Given the description of an element on the screen output the (x, y) to click on. 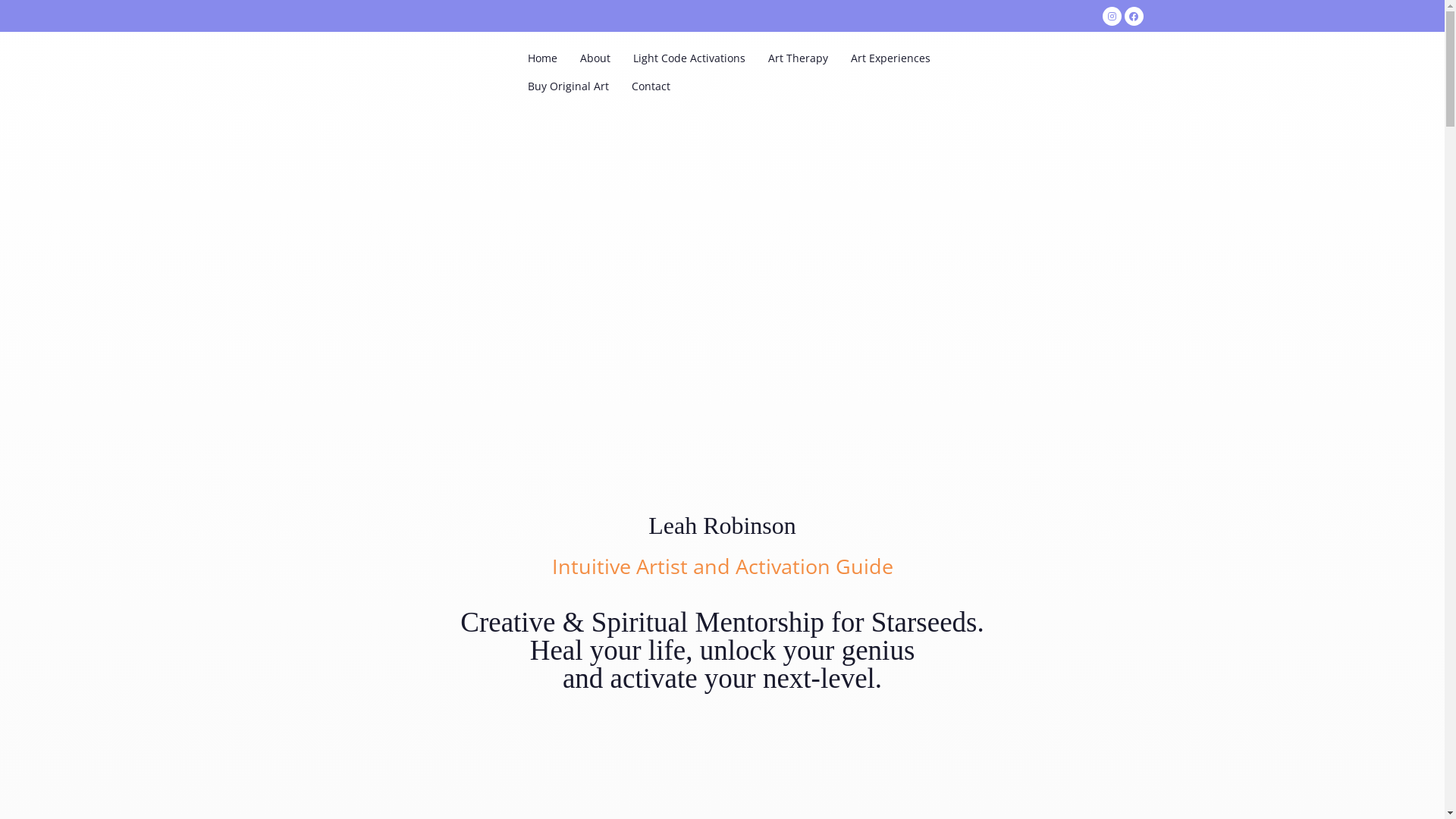
Contact Element type: text (650, 86)
Home Element type: text (541, 57)
Buy Original Art Element type: text (567, 86)
Art Experiences Element type: text (889, 57)
Light Code Activations Element type: text (689, 57)
Art Therapy Element type: text (797, 57)
About Element type: text (595, 57)
